Given the description of an element on the screen output the (x, y) to click on. 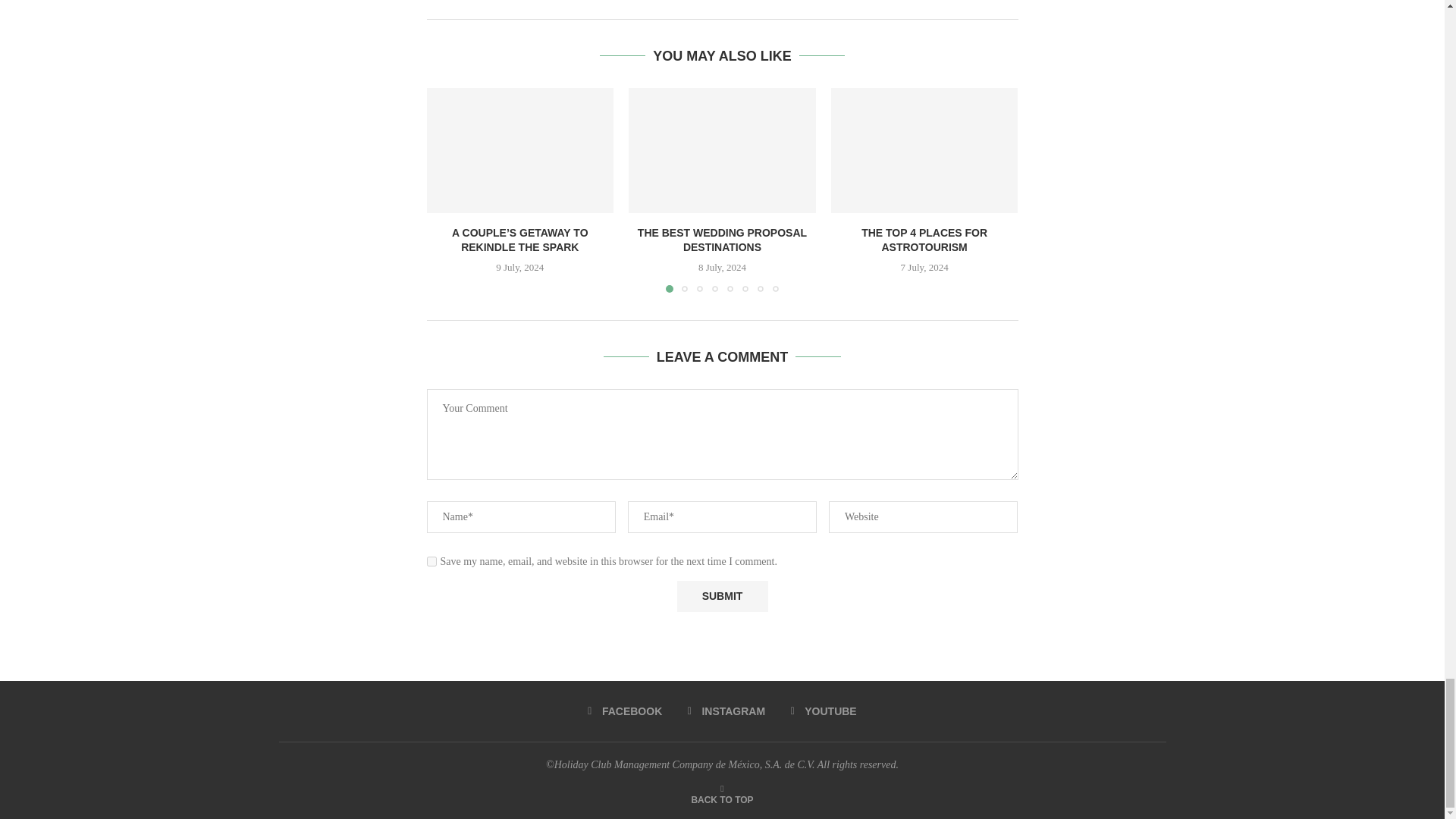
yes (430, 561)
THE BEST WEDDING PROPOSAL DESTINATIONS (721, 149)
THE TOP 4 PLACES FOR ASTROTOURISM (924, 149)
Submit (722, 595)
